Given the description of an element on the screen output the (x, y) to click on. 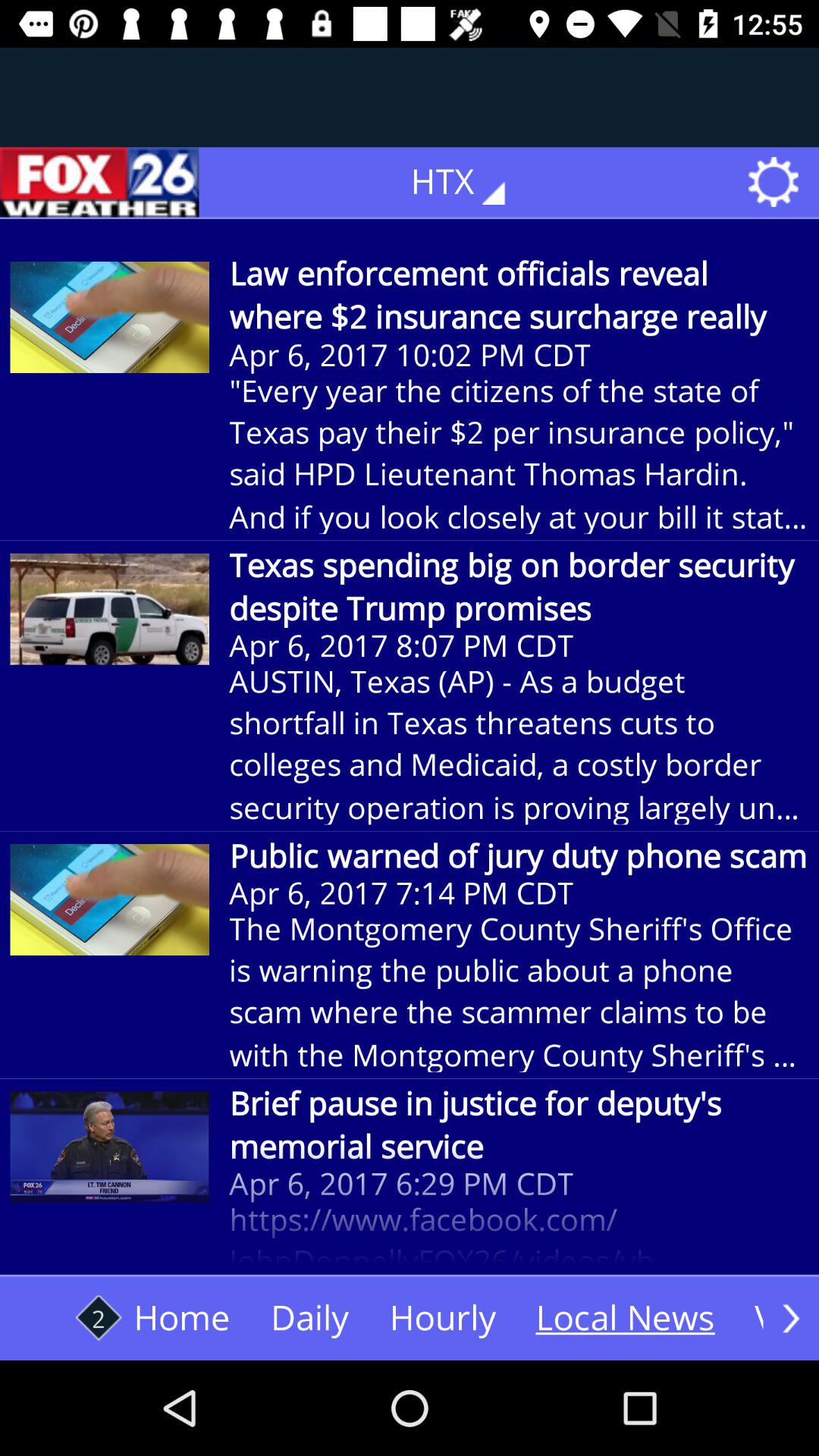
tap the icon next to htx icon (99, 182)
